Given the description of an element on the screen output the (x, y) to click on. 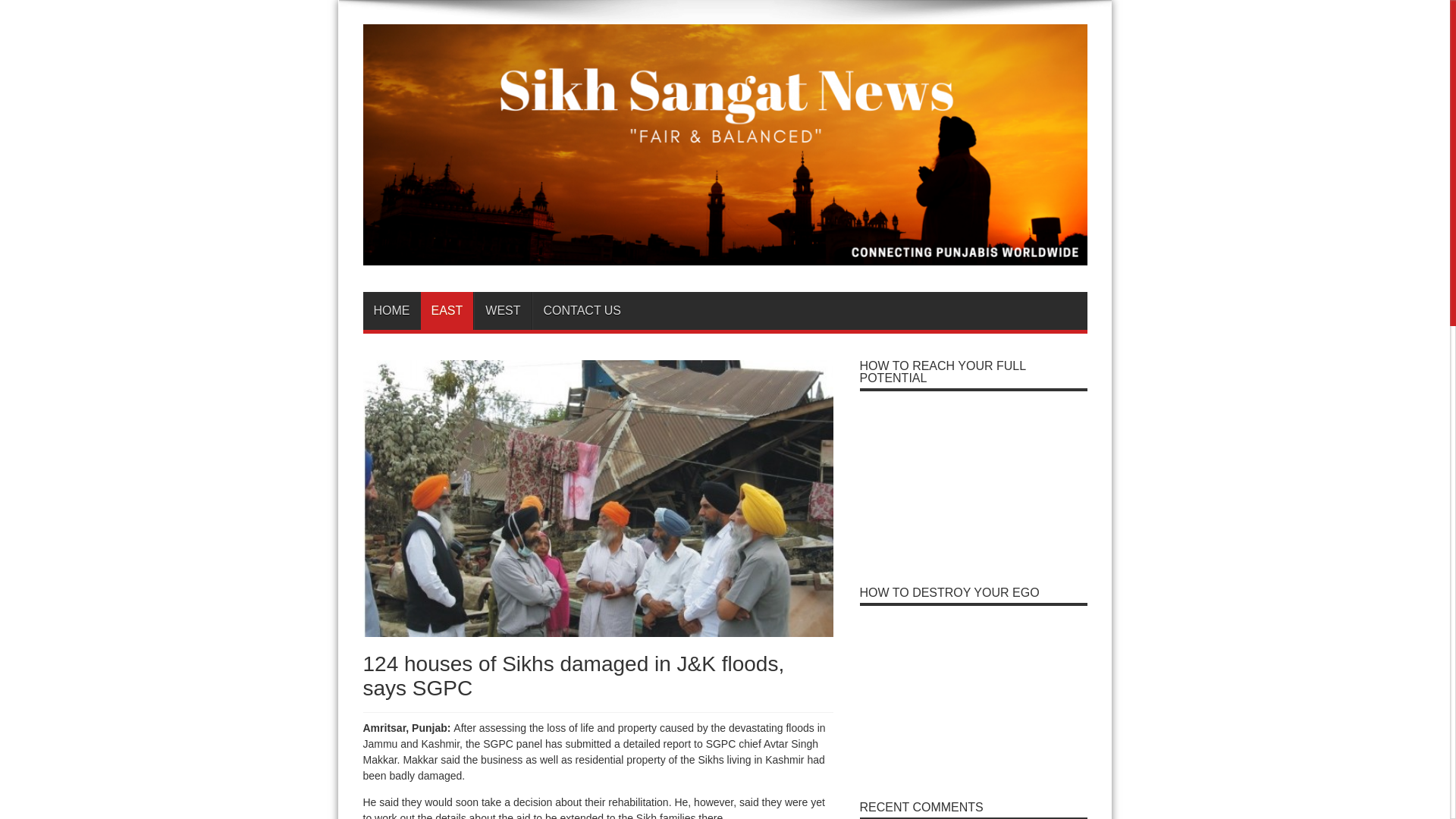
Sikh Sangat News (724, 253)
